Given the description of an element on the screen output the (x, y) to click on. 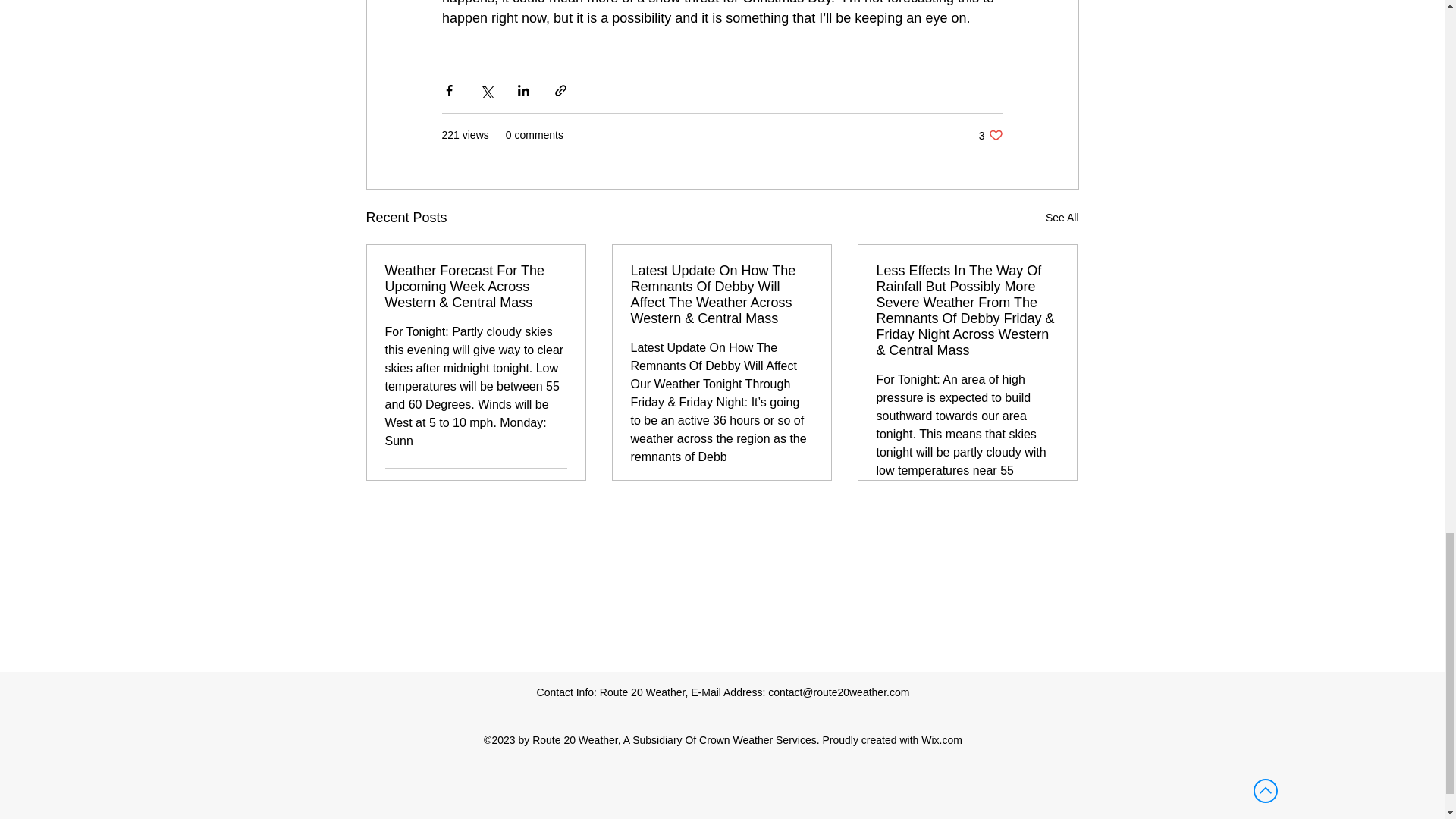
3 likes. Post not marked as liked (990, 134)
See All (555, 486)
